Given the description of an element on the screen output the (x, y) to click on. 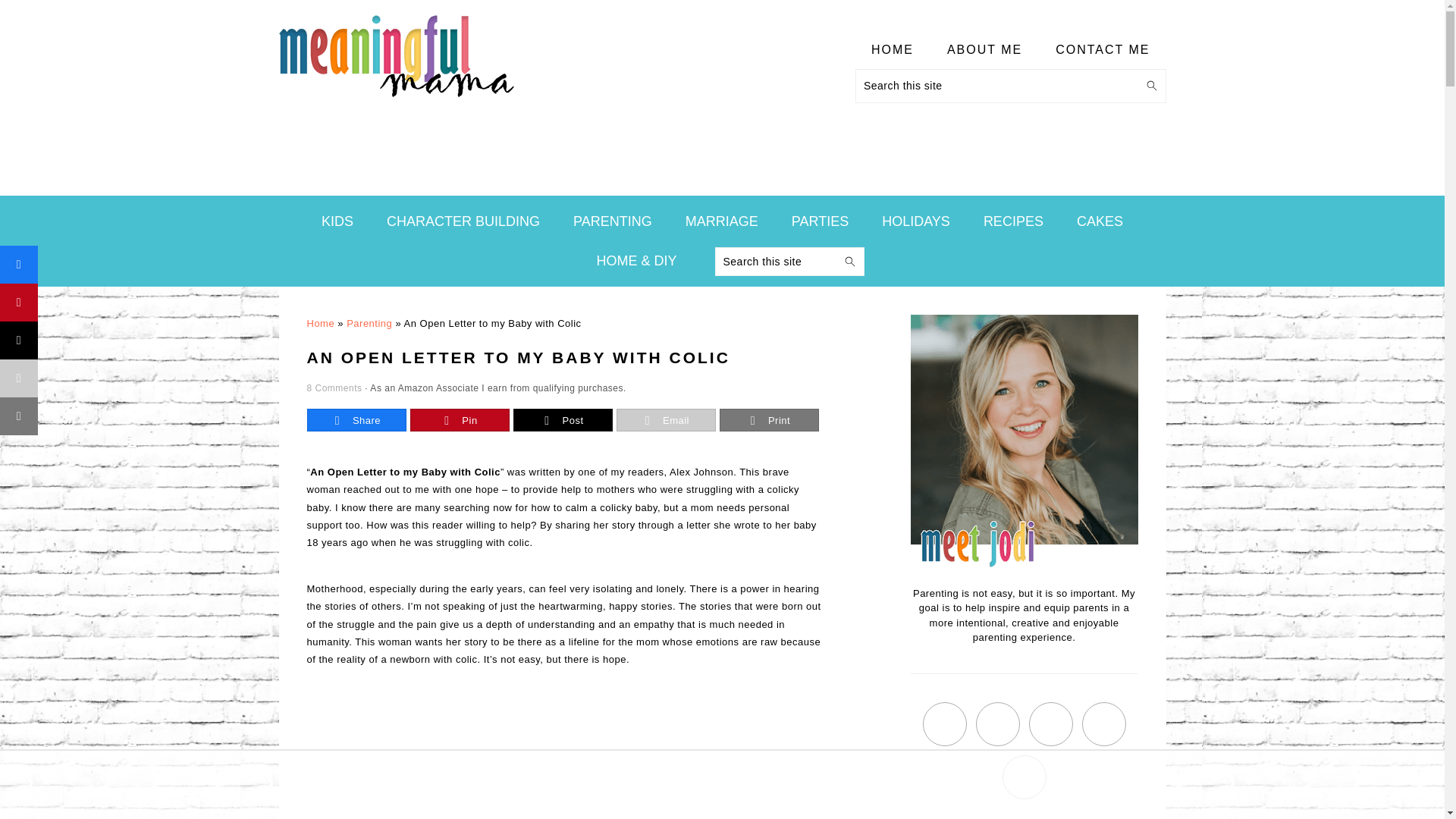
PARENTING (612, 220)
CONTACT ME (1102, 49)
RECIPES (1013, 220)
MARRIAGE (721, 220)
Meaningfulmama.com (396, 56)
KIDS (337, 220)
CHARACTER BUILDING (463, 220)
Meaningfulmama.com (396, 100)
